Given the description of an element on the screen output the (x, y) to click on. 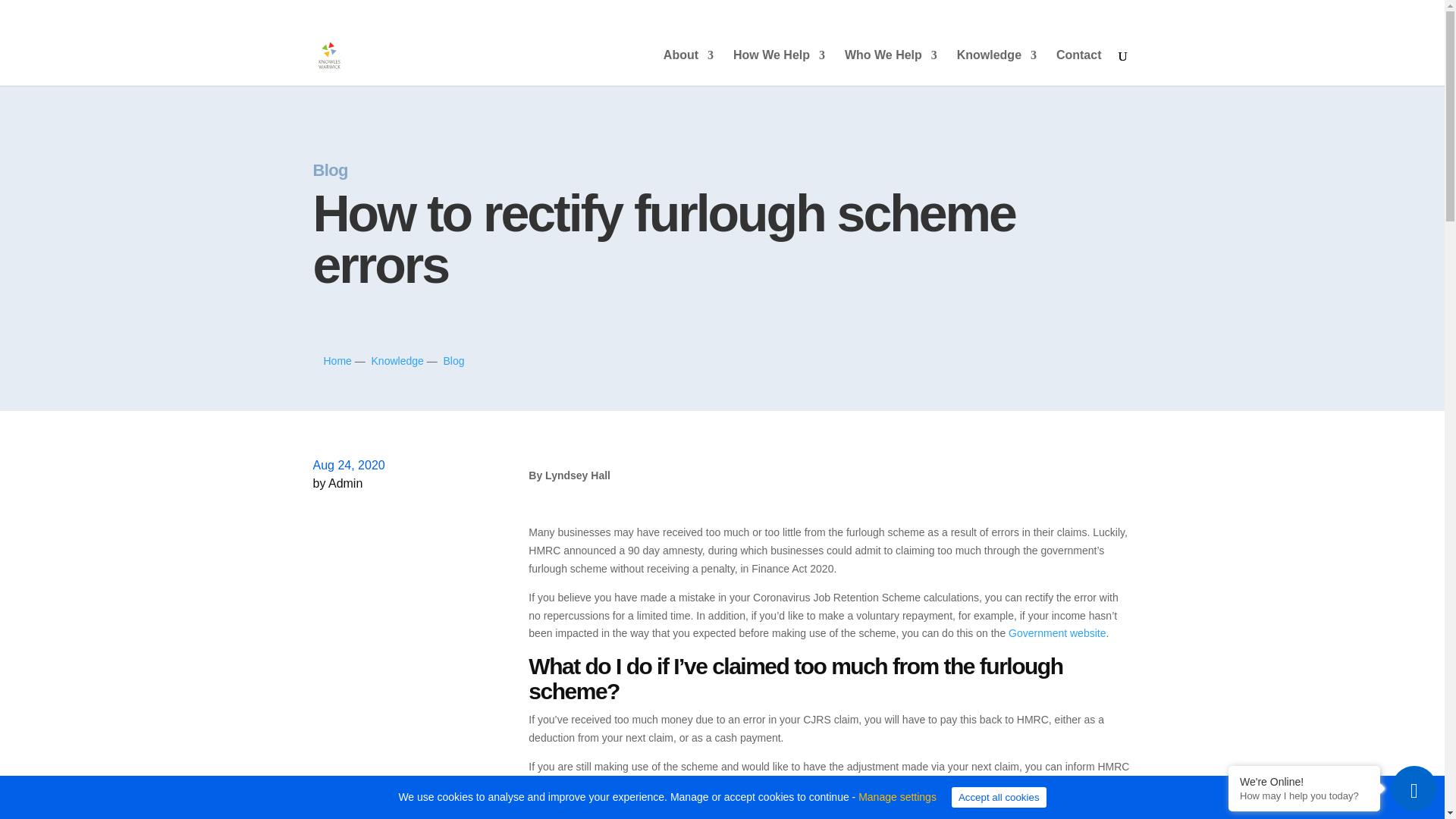
We're Online! (1304, 781)
How may I help you today? (1304, 795)
Posts by Admin (345, 482)
